Given the description of an element on the screen output the (x, y) to click on. 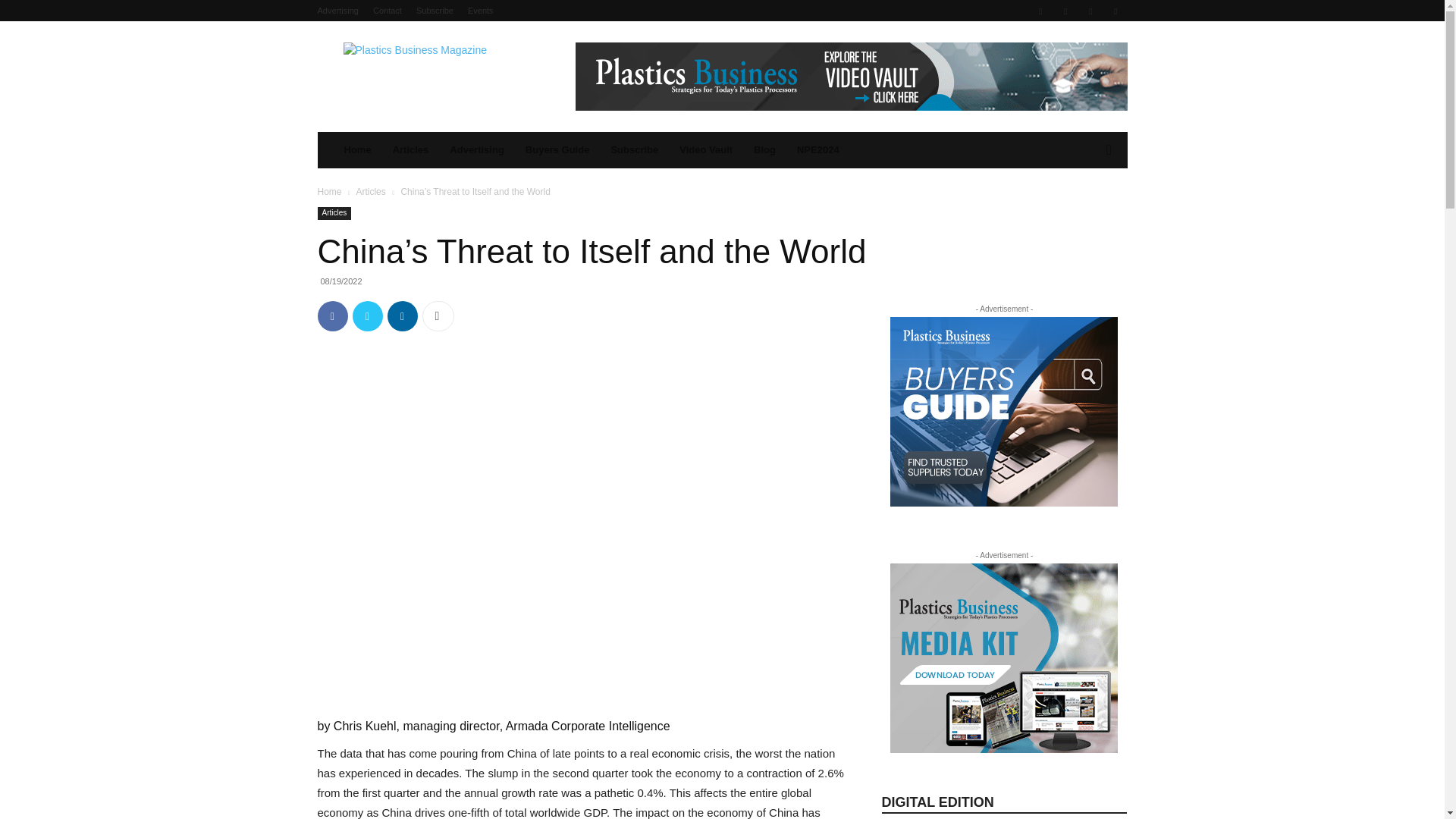
Advertising (337, 10)
Contact (386, 10)
Subscribe (434, 10)
Home (357, 149)
Facebook (1040, 10)
Youtube (1114, 10)
Twitter (366, 316)
Events (480, 10)
Facebook (332, 316)
Twitter (1090, 10)
View all posts in Articles (370, 191)
Plastics Business web logo (445, 76)
Articles (410, 149)
Linkedin (1065, 10)
